Given the description of an element on the screen output the (x, y) to click on. 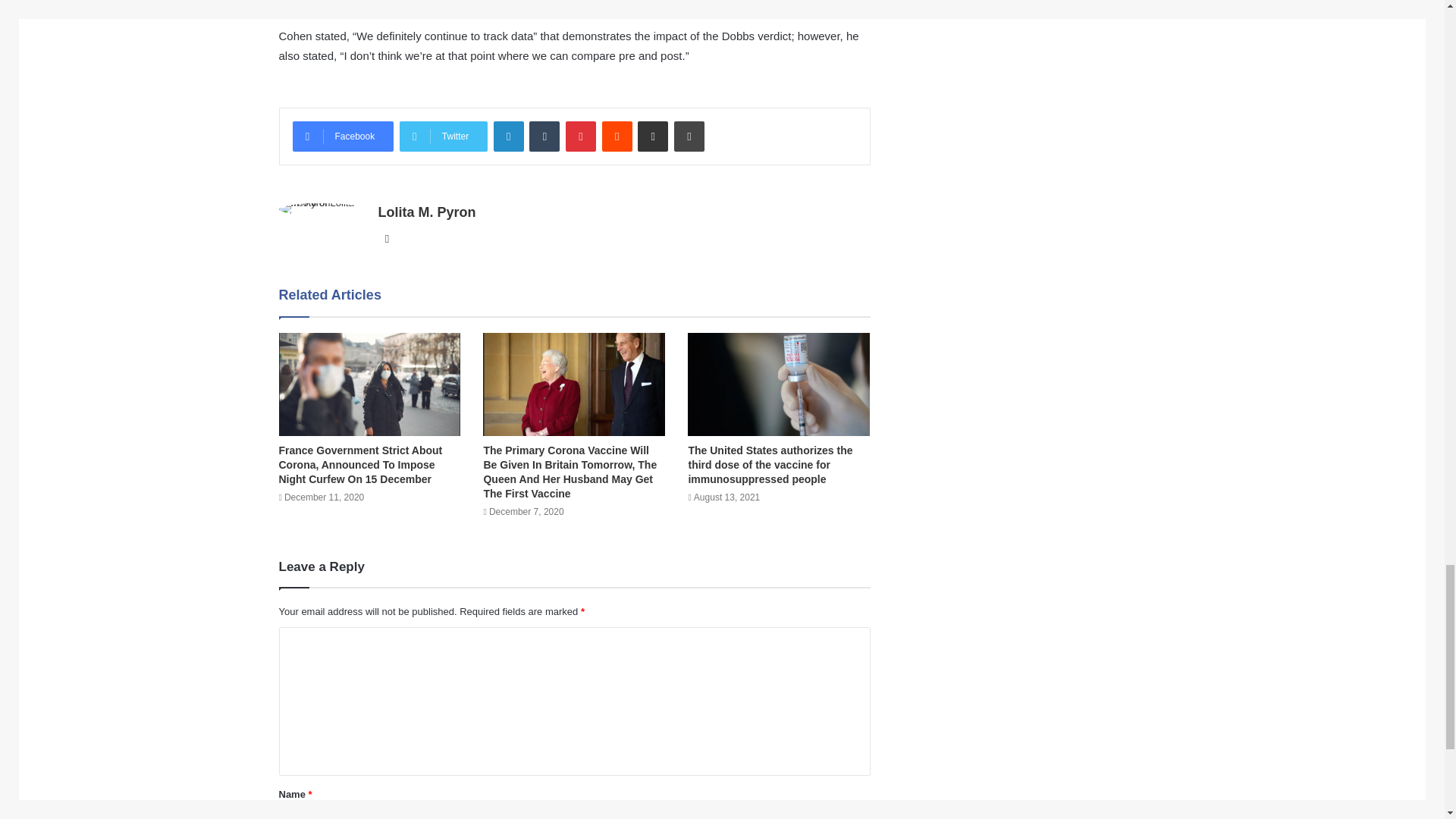
Reddit (616, 136)
LinkedIn (508, 136)
Share via Email (652, 136)
Facebook (343, 136)
Tumblr (544, 136)
Website (386, 239)
Facebook (343, 136)
Pinterest (580, 136)
Twitter (442, 136)
Share via Email (652, 136)
Twitter (442, 136)
Print (689, 136)
Lolita M. Pyron (426, 212)
Reddit (616, 136)
